Given the description of an element on the screen output the (x, y) to click on. 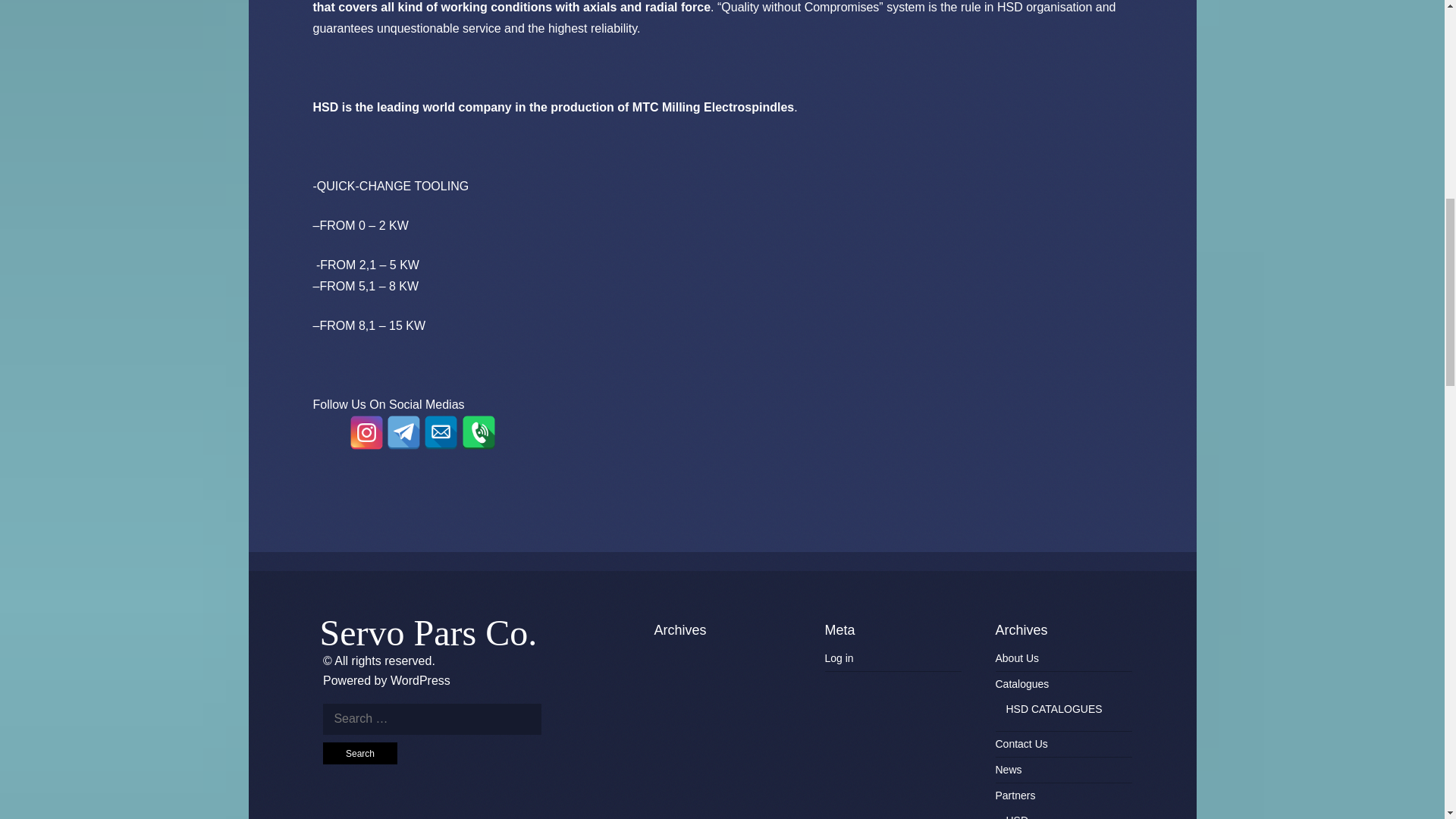
Partners (1014, 795)
About Us (1016, 657)
Contact Us (1020, 743)
Search (360, 753)
-QUICK-CHANGE TOOLING (390, 185)
WordPress (419, 679)
HSD (1016, 816)
HSD CATALOGUES (1054, 708)
Search (360, 753)
Catalogues (1021, 684)
